Given the description of an element on the screen output the (x, y) to click on. 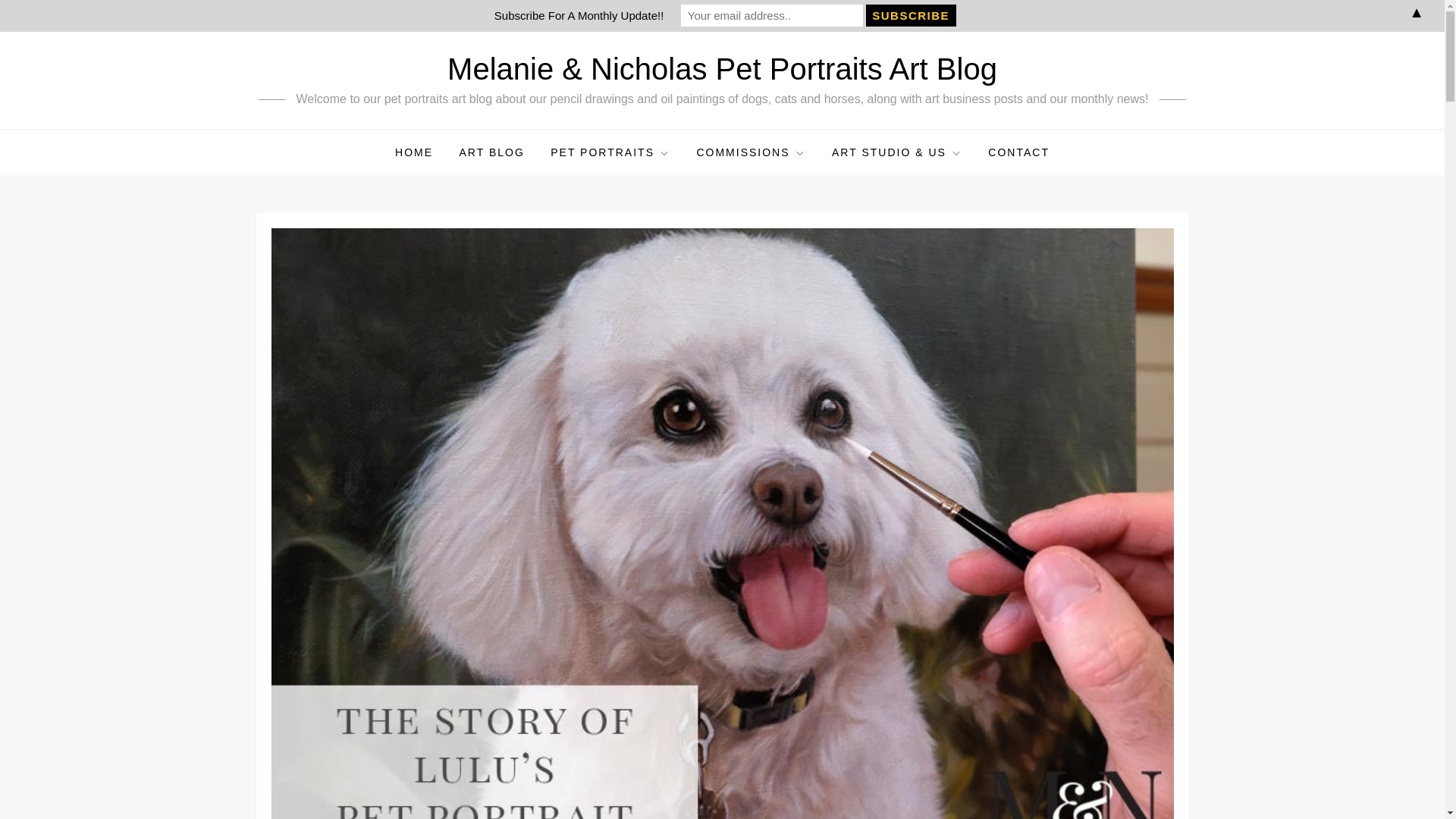
HOME (414, 152)
ART BLOG (490, 152)
Subscribe (911, 15)
CONTACT (1018, 152)
COMMISSIONS (750, 152)
PET PORTRAITS (609, 152)
